Given the description of an element on the screen output the (x, y) to click on. 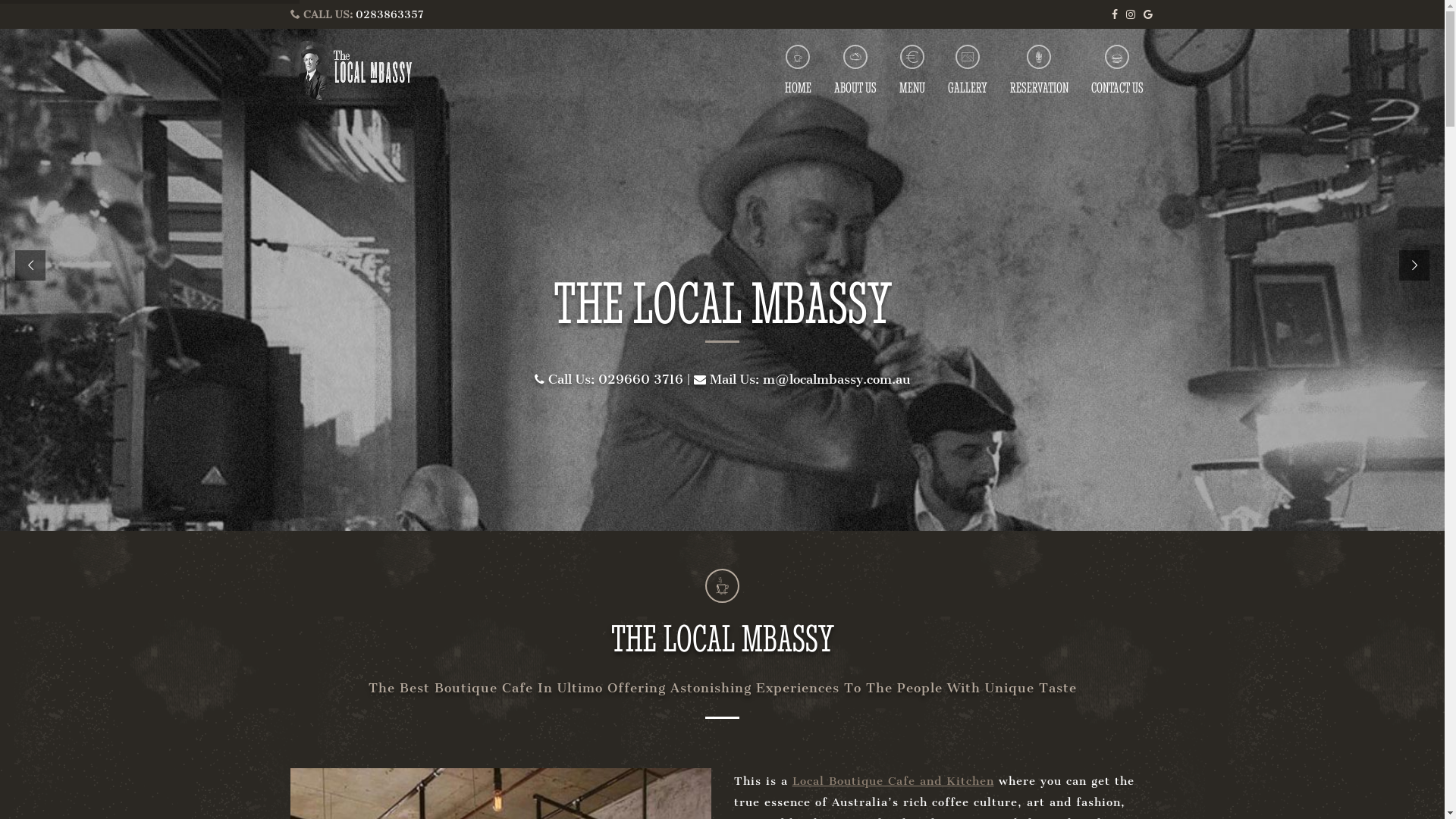
Local Boutique Cafe and Kitchen Element type: text (892, 780)
CONTACT US Element type: text (1116, 69)
HOME Element type: text (797, 69)
0283863357 Element type: text (388, 14)
MENU Element type: text (912, 69)
RESERVATION Element type: text (1039, 69)
GALLERY Element type: text (967, 69)
The Local Mbassy Element type: text (368, 70)
ABOUT US Element type: text (855, 69)
